Given the description of an element on the screen output the (x, y) to click on. 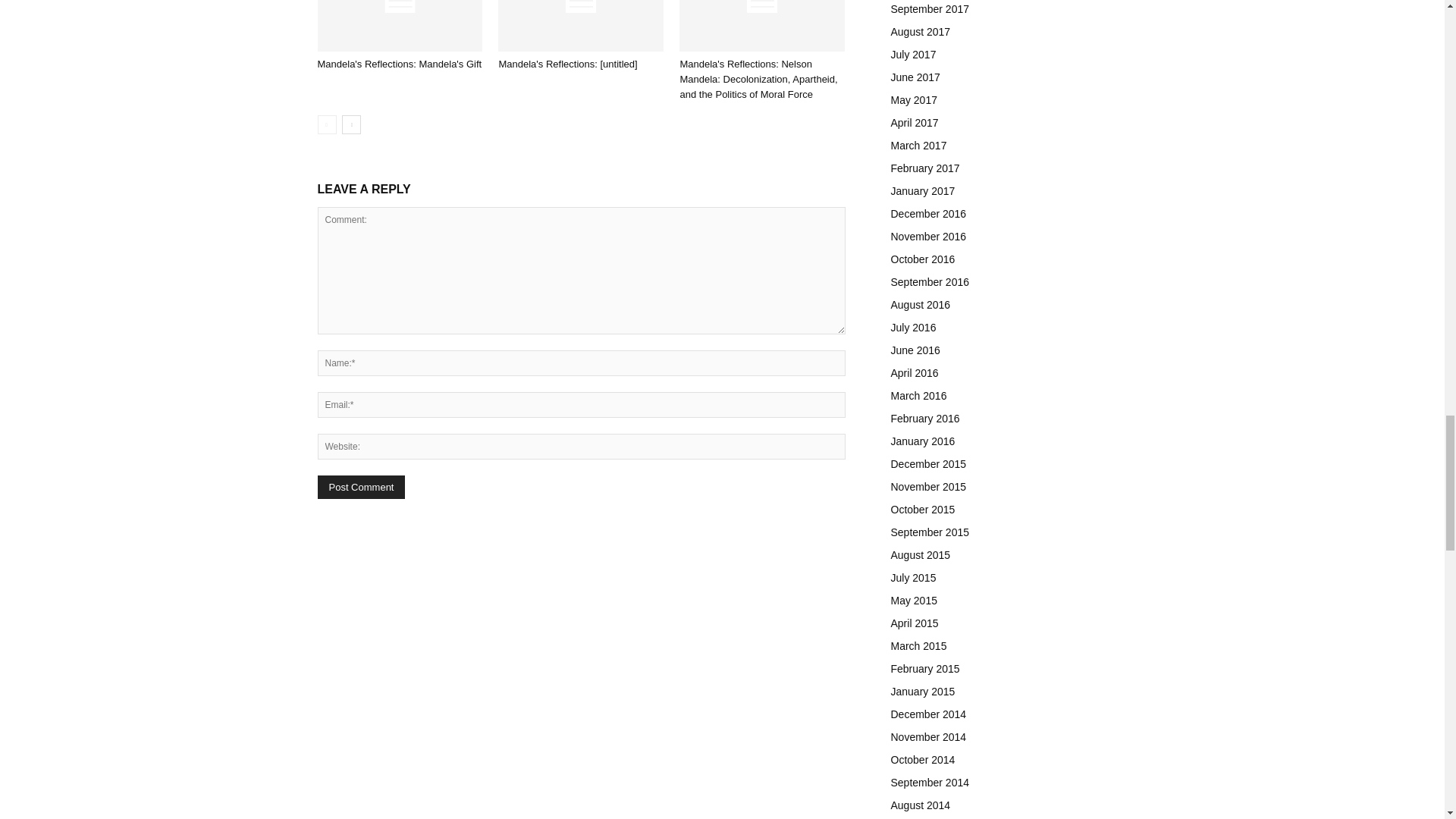
Mandela's Reflections: Mandela's Gift (399, 25)
Mandela's Reflections: Mandela's Gift (399, 63)
Post Comment (360, 486)
